Given the description of an element on the screen output the (x, y) to click on. 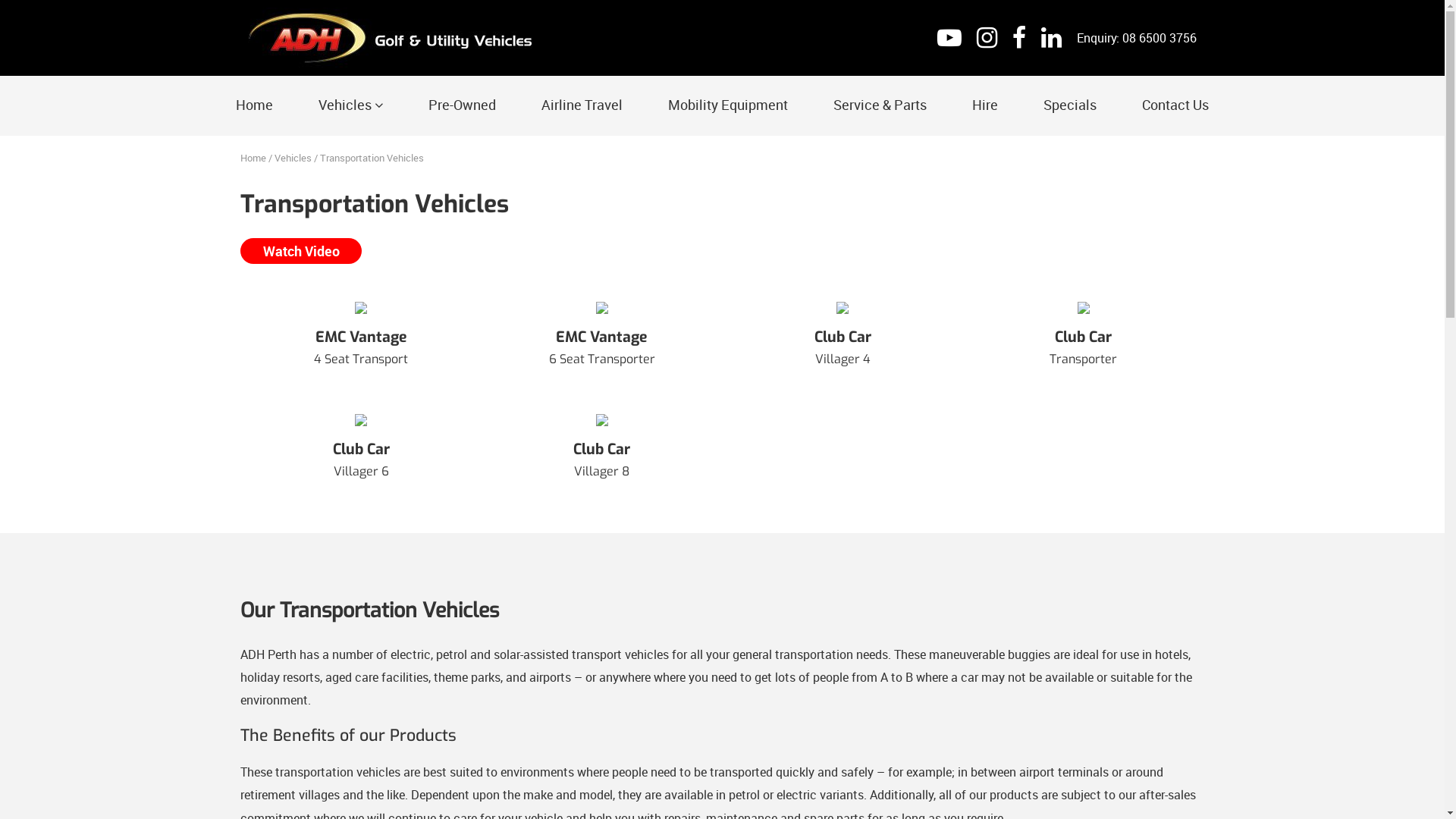
Specials Element type: text (1069, 104)
Home Element type: text (253, 157)
Pre-Owned Element type: text (461, 104)
Contact Us Element type: text (1175, 104)
Airline Travel Element type: text (581, 104)
EMC Vantage
4 Seat Transport Element type: text (360, 342)
Club Car
Villager 6 Element type: text (360, 454)
Club Car
Villager 8 Element type: text (601, 454)
08 6500 3756 Element type: text (1159, 37)
Hire Element type: text (984, 104)
Vehicles Element type: text (350, 105)
EMC Vantage
6 Seat Transporter Element type: text (602, 342)
Watch Video Element type: text (300, 250)
Service & Parts Element type: text (879, 104)
Club Car
Villager 4 Element type: text (842, 342)
Club Car
Transporter Element type: text (1083, 342)
Mobility Equipment Element type: text (727, 104)
Home Element type: text (254, 104)
